Given the description of an element on the screen output the (x, y) to click on. 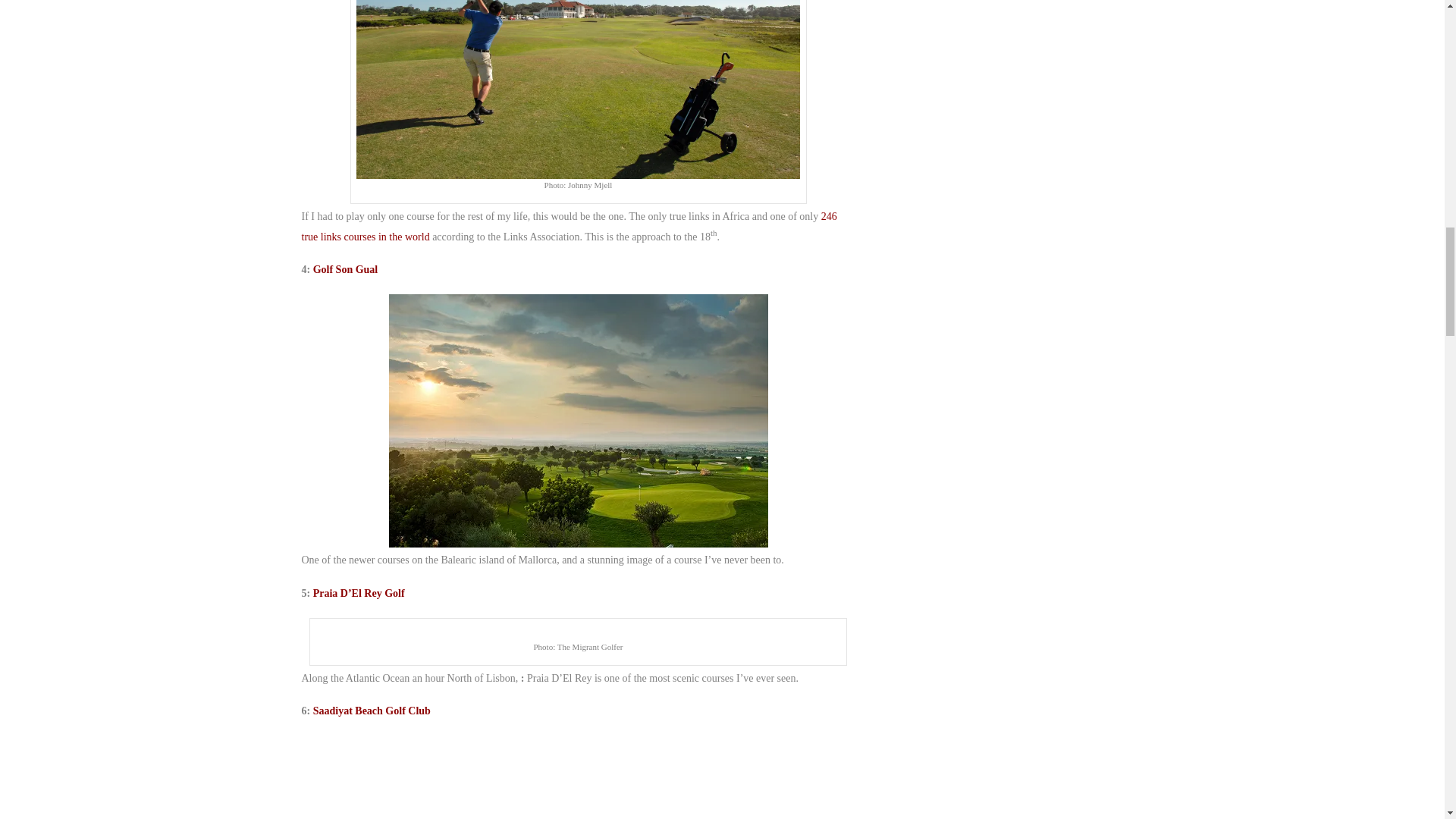
Saadiyat Beach Golf Club (371, 710)
Son Gual hull 8 (577, 420)
Golf Son Gual (345, 269)
Humwood h18 (577, 89)
Praia D'El Rey Golf (358, 593)
Golf Son Gual (345, 269)
246 true links courses in the world (569, 225)
